Given the description of an element on the screen output the (x, y) to click on. 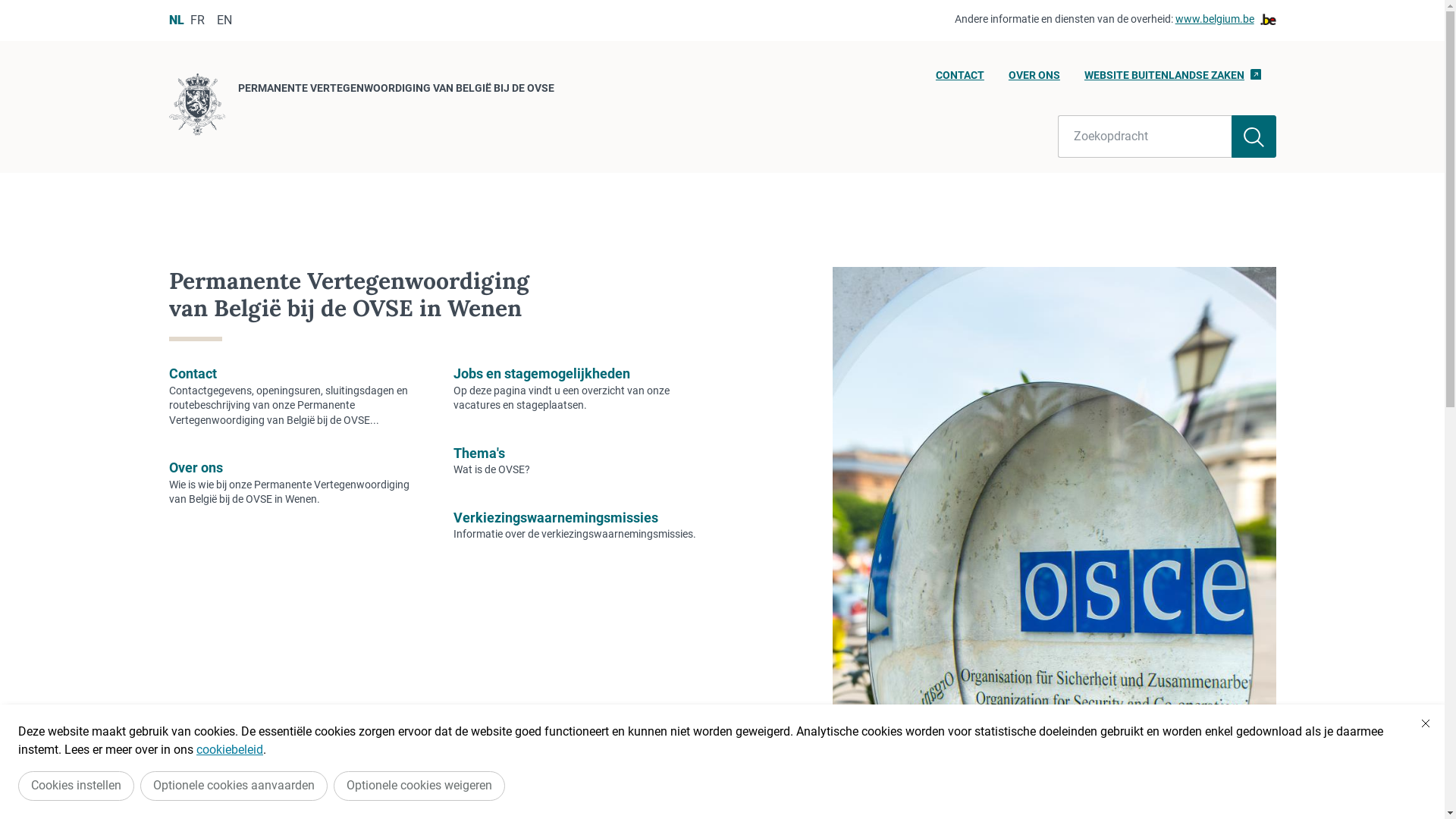
Optionele cookies weigeren Element type: text (419, 785)
Verkiezingswaarnemingsmissies Element type: text (555, 517)
Cookies instellen Element type: text (76, 785)
Sluiten Element type: hover (1425, 723)
OVER ONS Element type: text (1034, 79)
Jobs en stagemogelijkheden Element type: text (541, 373)
cookiebeleid Element type: text (229, 749)
FR Element type: text (196, 19)
Over ons Element type: text (195, 467)
Optionele cookies aanvaarden Element type: text (233, 785)
Filteren Element type: text (1253, 136)
WEBSITE BUITENLANDSE ZAKEN Element type: text (1172, 79)
Zoekopdracht Element type: hover (1144, 136)
Skip to main content Element type: text (7, 4)
EN Element type: text (224, 19)
Thema's Element type: text (479, 453)
CONTACT Element type: text (959, 79)
Contact Element type: text (192, 373)
NL Element type: text (175, 19)
www.belgium.be Element type: text (1225, 19)
